Given the description of an element on the screen output the (x, y) to click on. 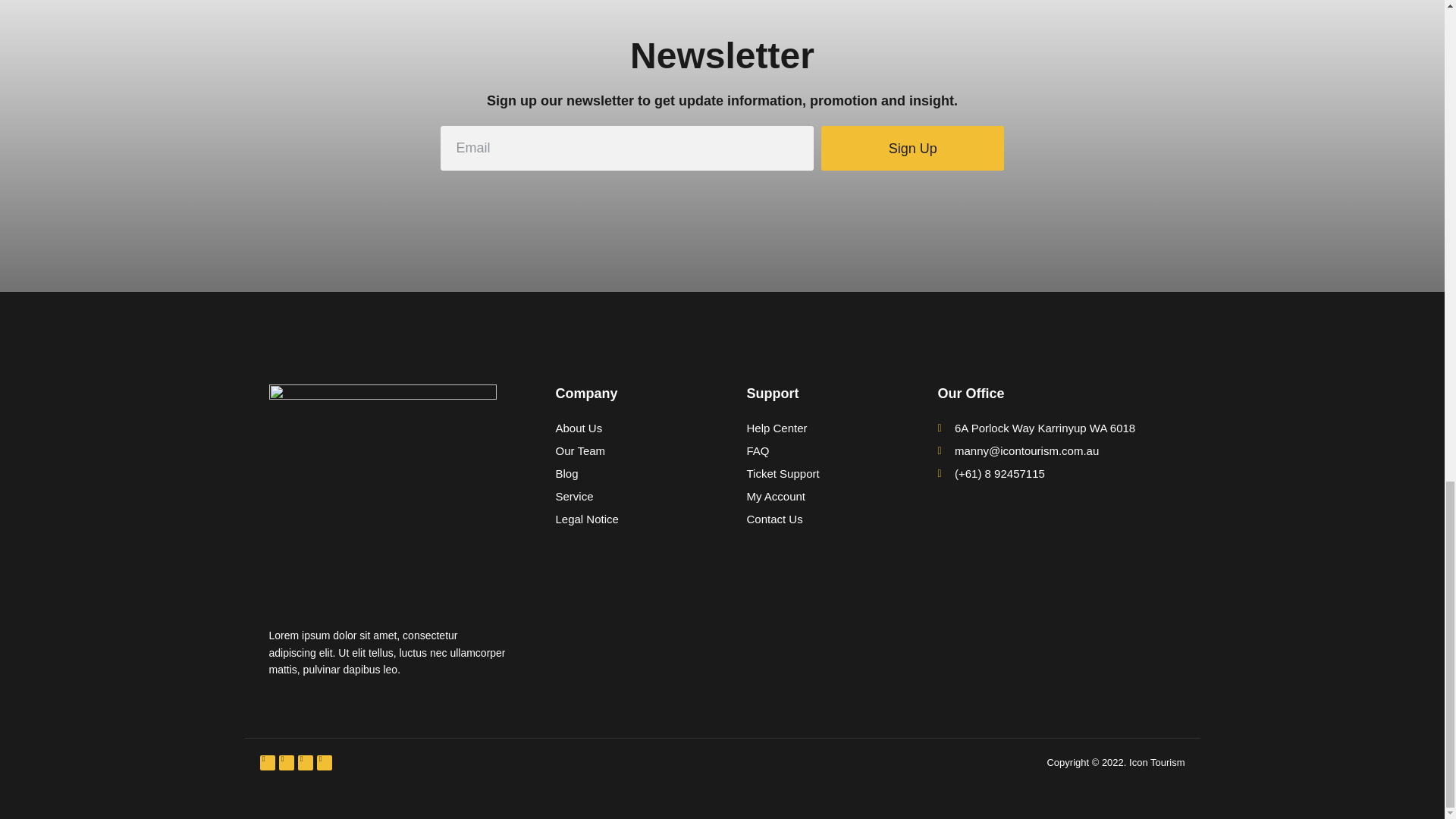
Contact Us (816, 519)
Service (625, 496)
Legal Notice (625, 519)
FAQ (816, 451)
Help Center (816, 428)
Our Team (625, 451)
Ticket Support (816, 474)
About Us (625, 428)
Blog (625, 474)
My Account (816, 496)
Sign Up (912, 148)
